Given the description of an element on the screen output the (x, y) to click on. 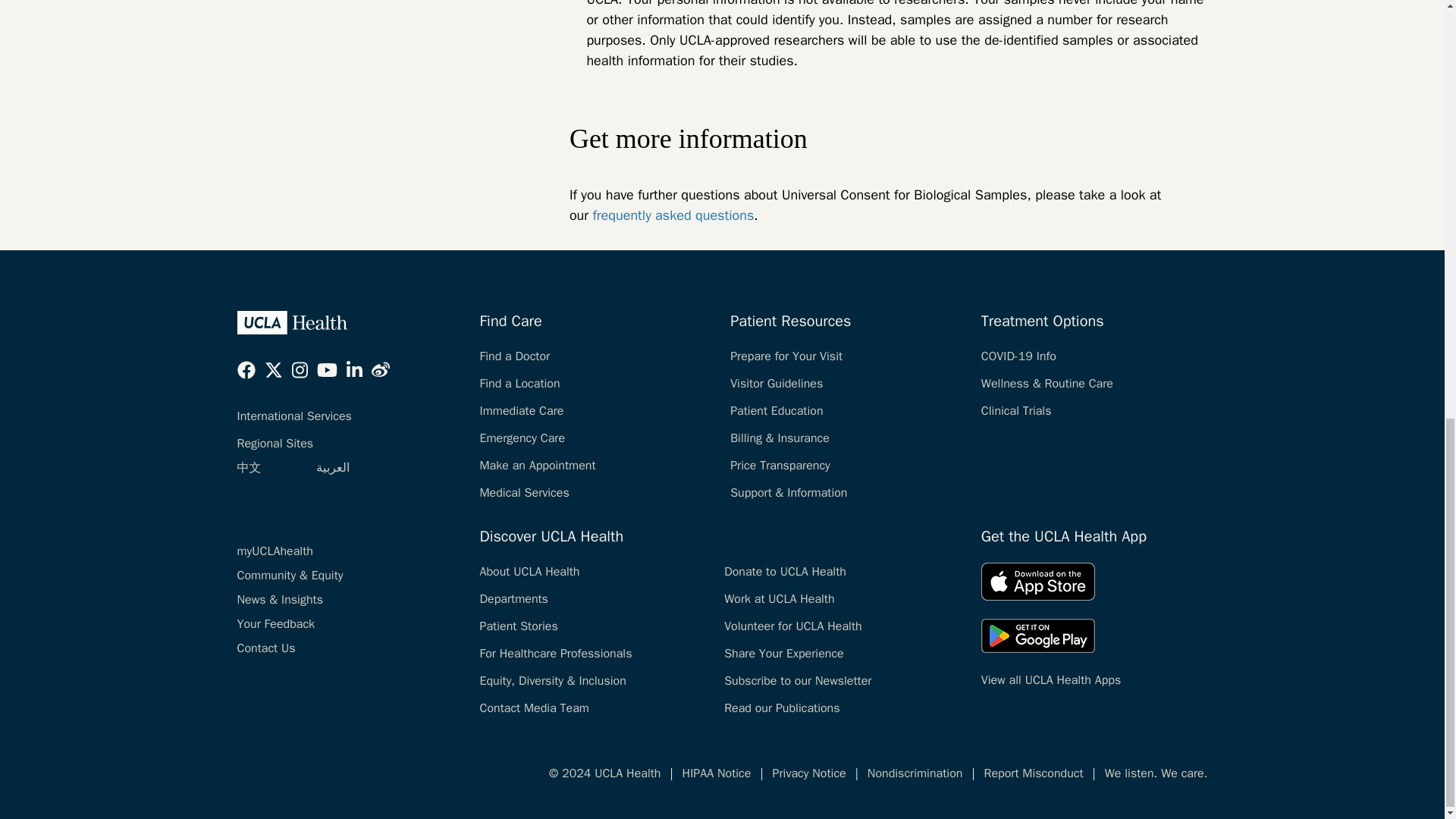
myUCLAhealth Login. (274, 550)
